Given the description of an element on the screen output the (x, y) to click on. 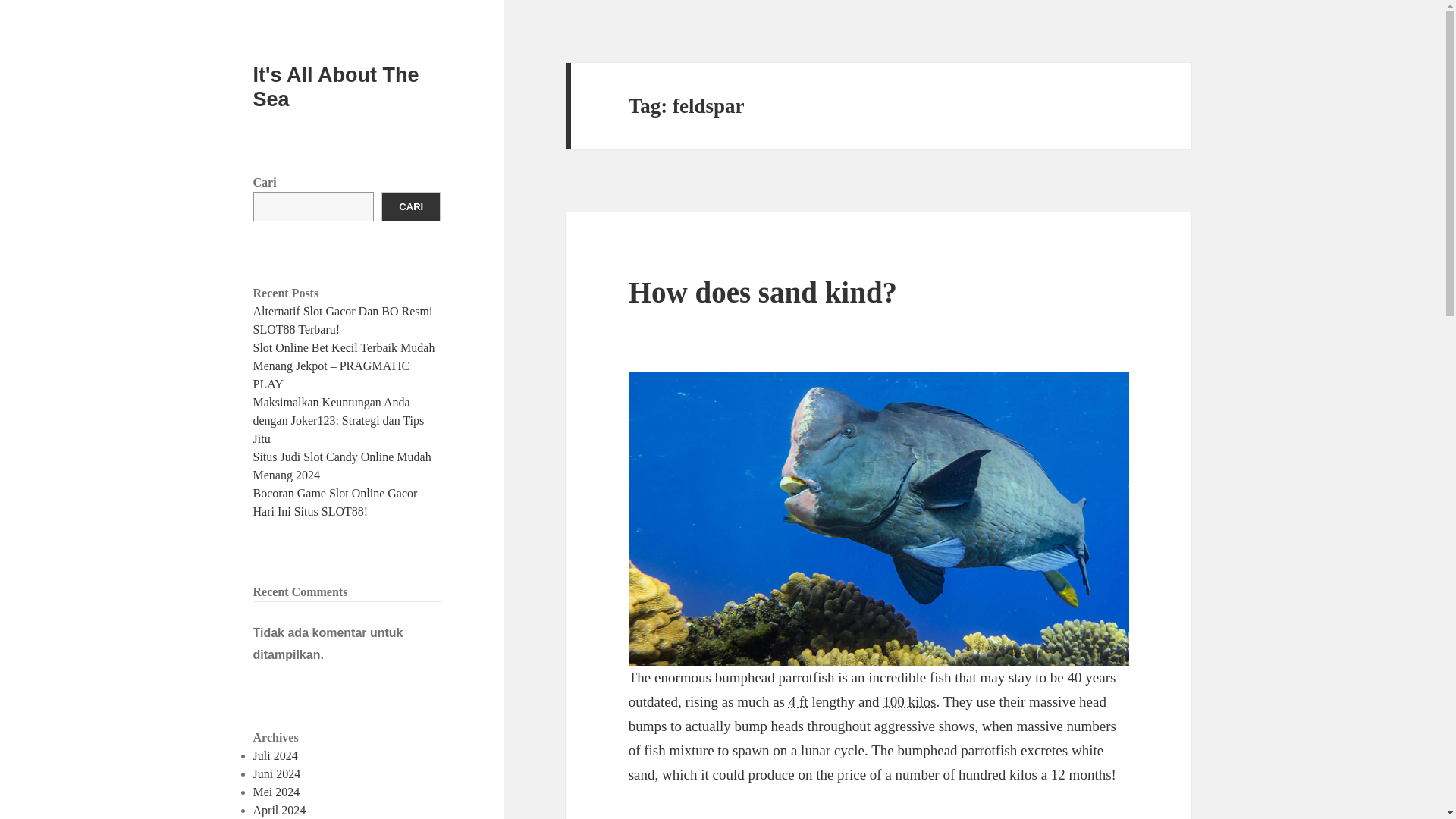
45.3 kilograms (909, 701)
Situs Judi Slot Candy Online Mudah Menang 2024 (341, 465)
Juli 2024 (275, 755)
It's All About The Sea (336, 86)
April 2024 (279, 809)
Bocoran Game Slot Online Gacor Hari Ini Situs SLOT88! (335, 501)
Mei 2024 (276, 791)
Alternatif Slot Gacor Dan BO Resmi SLOT88 Terbaru! (342, 319)
CARI (411, 206)
Juni 2024 (277, 773)
How does sand kind? (762, 292)
1.2 meters (798, 701)
